Given the description of an element on the screen output the (x, y) to click on. 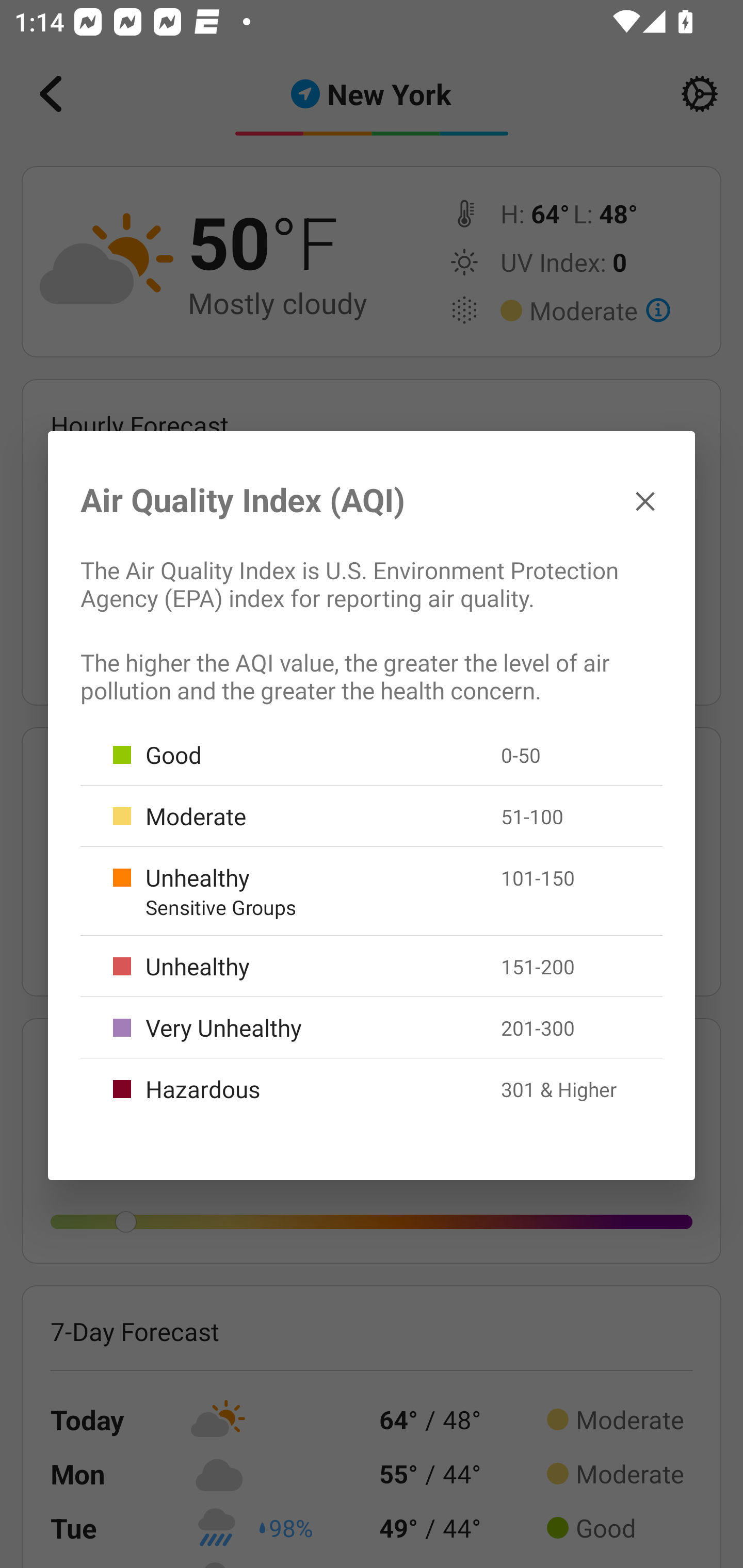
✕ (644, 499)
